Given the description of an element on the screen output the (x, y) to click on. 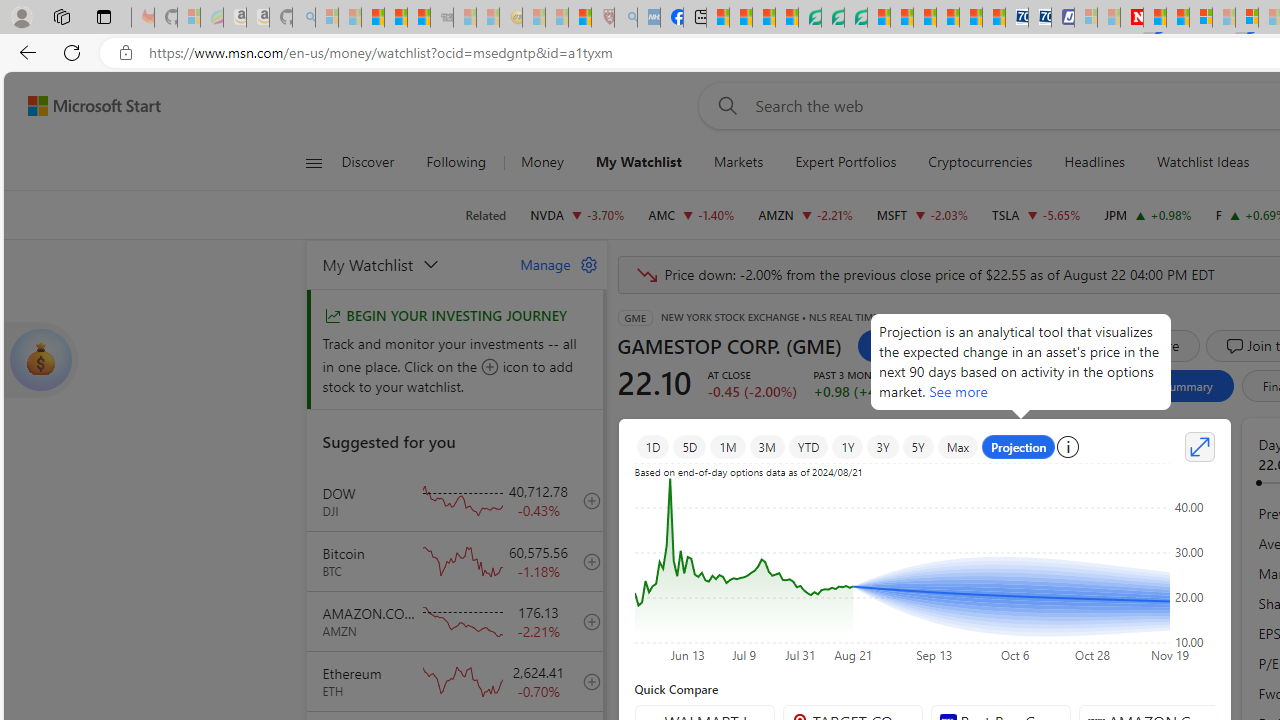
Following (456, 162)
3Y (882, 446)
Latest Politics News & Archive | Newsweek.com (1132, 17)
Skip to content (86, 105)
New Report Confirms 2023 Was Record Hot | Watch (419, 17)
add to your watchlist (586, 681)
Headlines (1094, 162)
Max (957, 446)
